Given the description of an element on the screen output the (x, y) to click on. 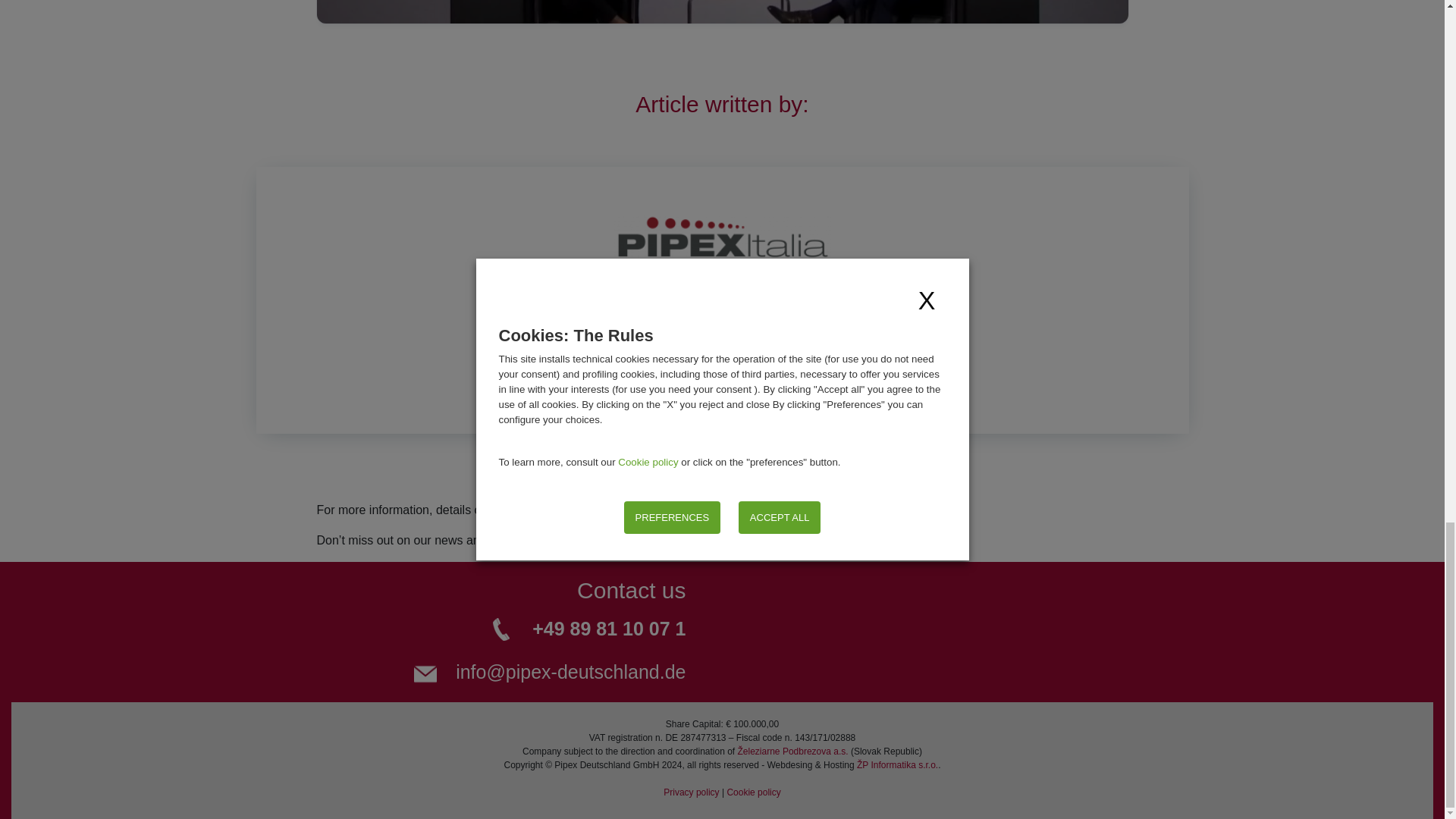
BLOG (611, 540)
Subscribe to our Newsletter (730, 540)
